Given the description of an element on the screen output the (x, y) to click on. 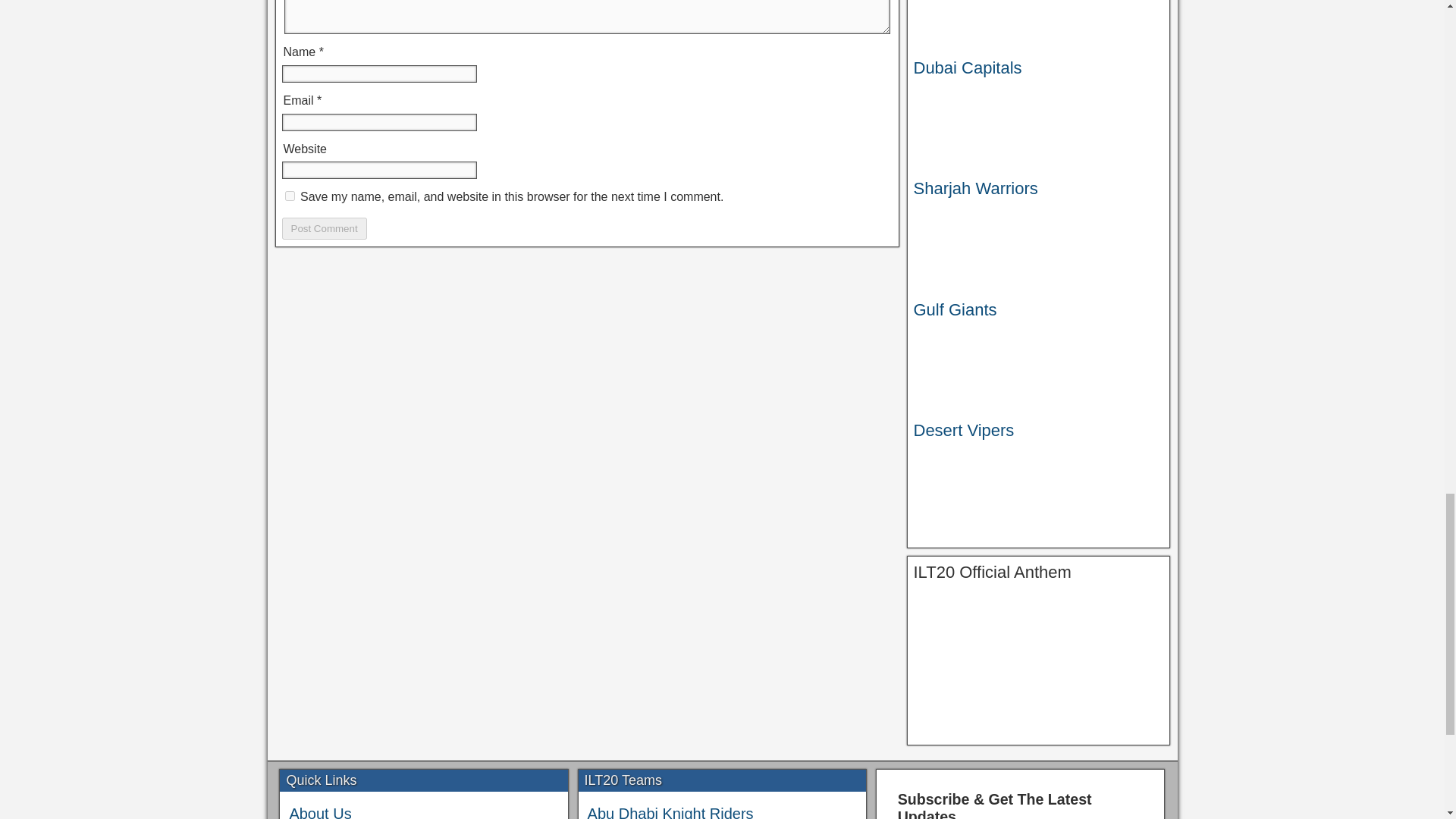
Post Comment (324, 228)
Post Comment (324, 228)
yes (290, 195)
